Given the description of an element on the screen output the (x, y) to click on. 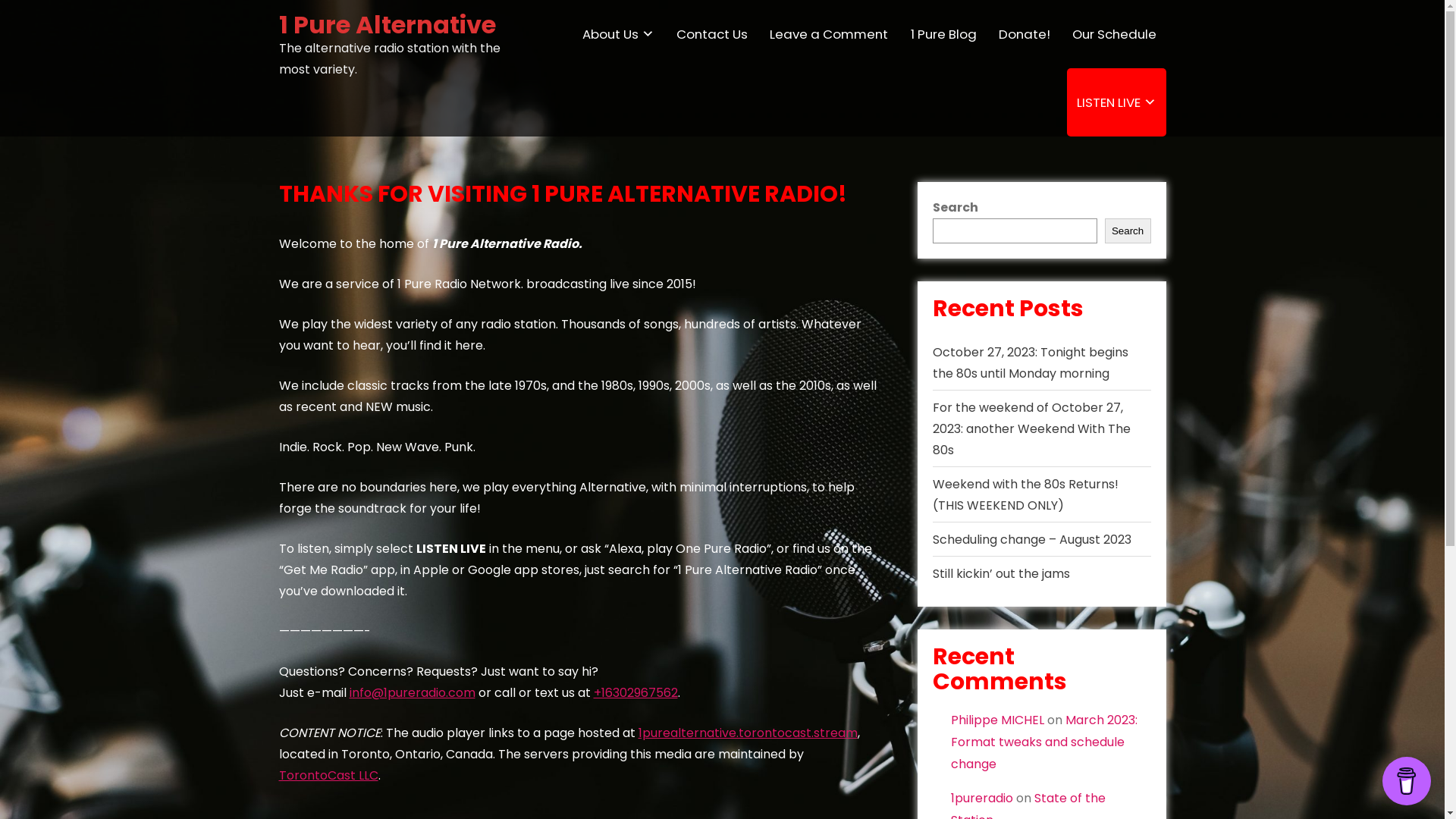
Weekend with the 80s Returns! (THIS WEEKEND ONLY) Element type: text (1025, 494)
1pureradio Element type: text (981, 797)
March 2023: Format tweaks and schedule change Element type: text (1043, 741)
Search Element type: text (1127, 230)
Leave a Comment Element type: text (828, 34)
1 Pure Alternative Element type: text (387, 24)
Philippe MICHEL Element type: text (997, 719)
+16302967562 Element type: text (635, 692)
info@1pureradio.com Element type: text (411, 692)
TorontoCast LLC Element type: text (328, 775)
Our Schedule Element type: text (1113, 34)
Contact Us Element type: text (712, 34)
1purealternative.torontocast.stream Element type: text (747, 732)
About Us Element type: text (617, 34)
Donate! Element type: text (1023, 34)
LISTEN LIVE Element type: text (1115, 102)
1 Pure Blog Element type: text (942, 34)
